Given the description of an element on the screen output the (x, y) to click on. 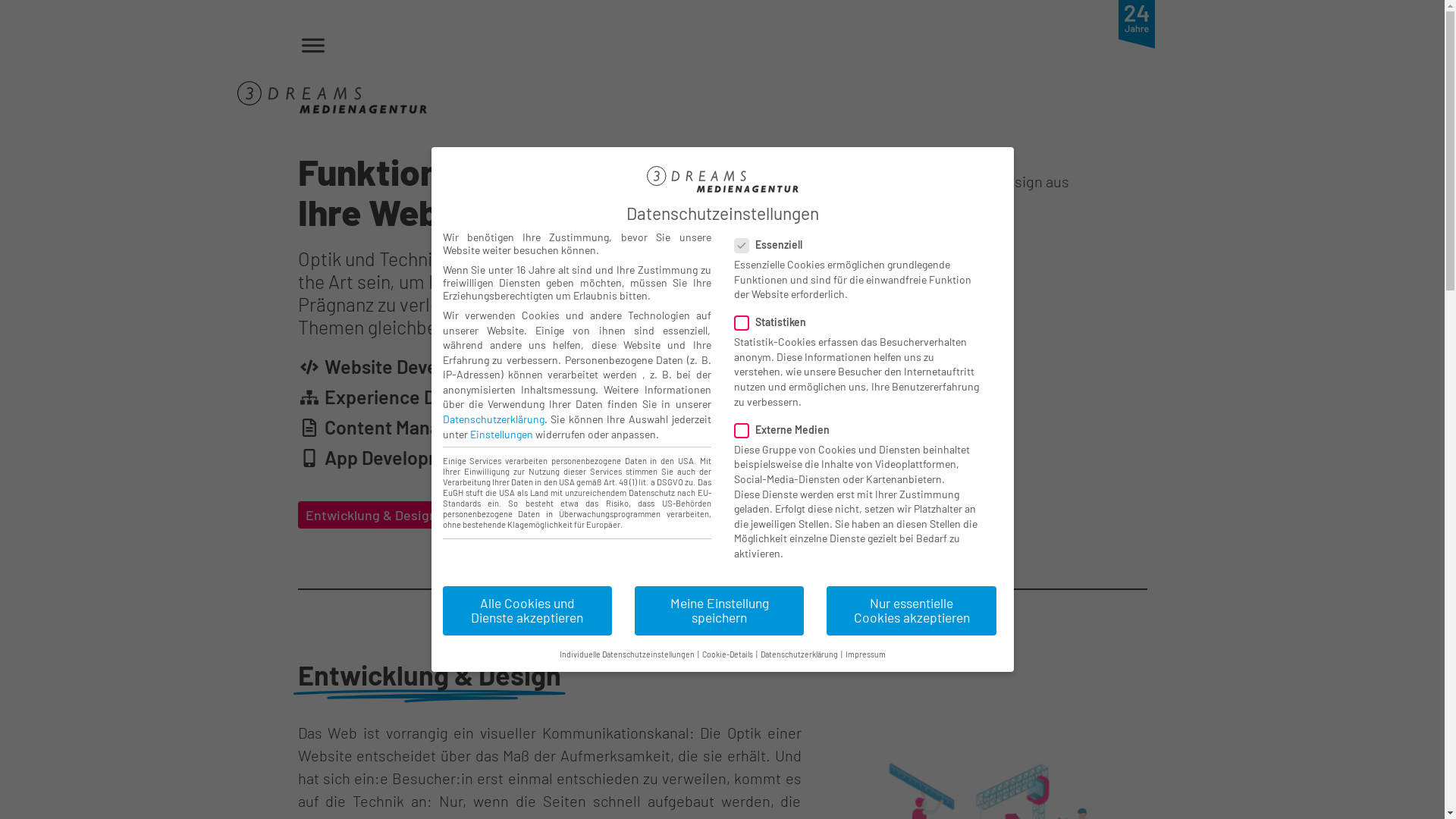
Alle Cookies und Dienste akzeptieren Element type: text (526, 610)
Cookie-Details Element type: text (727, 653)
24-jahre-3dreams-medienagentur-1 Element type: hover (1135, 24)
Impressum Element type: text (864, 653)
Nur essentielle Cookies akzeptieren Element type: text (910, 610)
Experience Design Element type: text (388, 396)
Website Development Element type: text (401, 366)
Content Management Element type: text (400, 427)
Meine Einstellung speichern Element type: text (718, 610)
Entwicklung & Design Element type: text (380, 514)
Individuelle Datenschutzeinstellungen Element type: text (626, 653)
Einstellungen Element type: text (501, 433)
App Development Element type: text (384, 457)
Beratung anfordern Element type: text (553, 514)
